Given the description of an element on the screen output the (x, y) to click on. 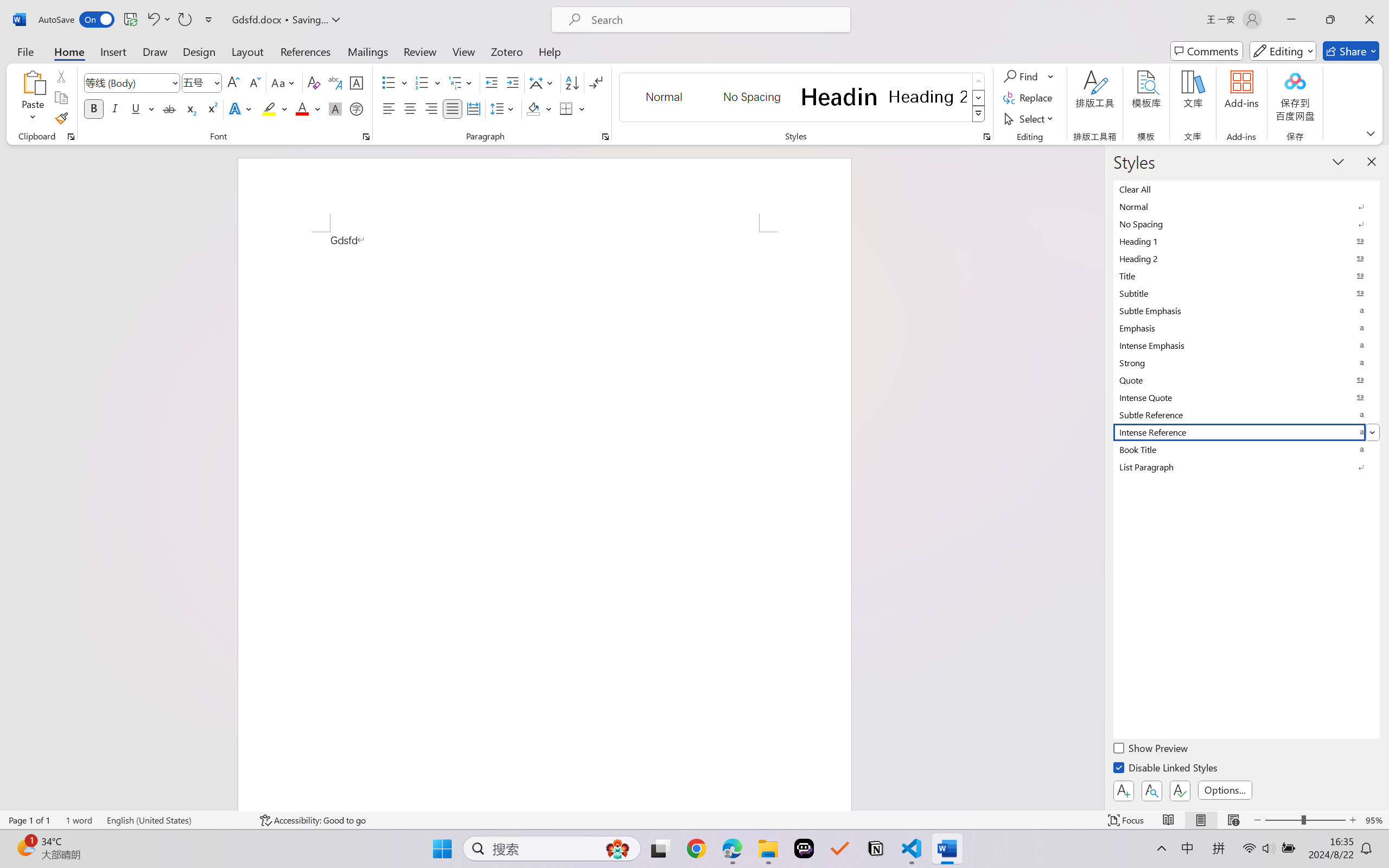
Clear All (1246, 188)
Show Preview (1151, 749)
Center (409, 108)
Change Case (284, 82)
AutomationID: QuickStylesGallery (802, 97)
